Given the description of an element on the screen output the (x, y) to click on. 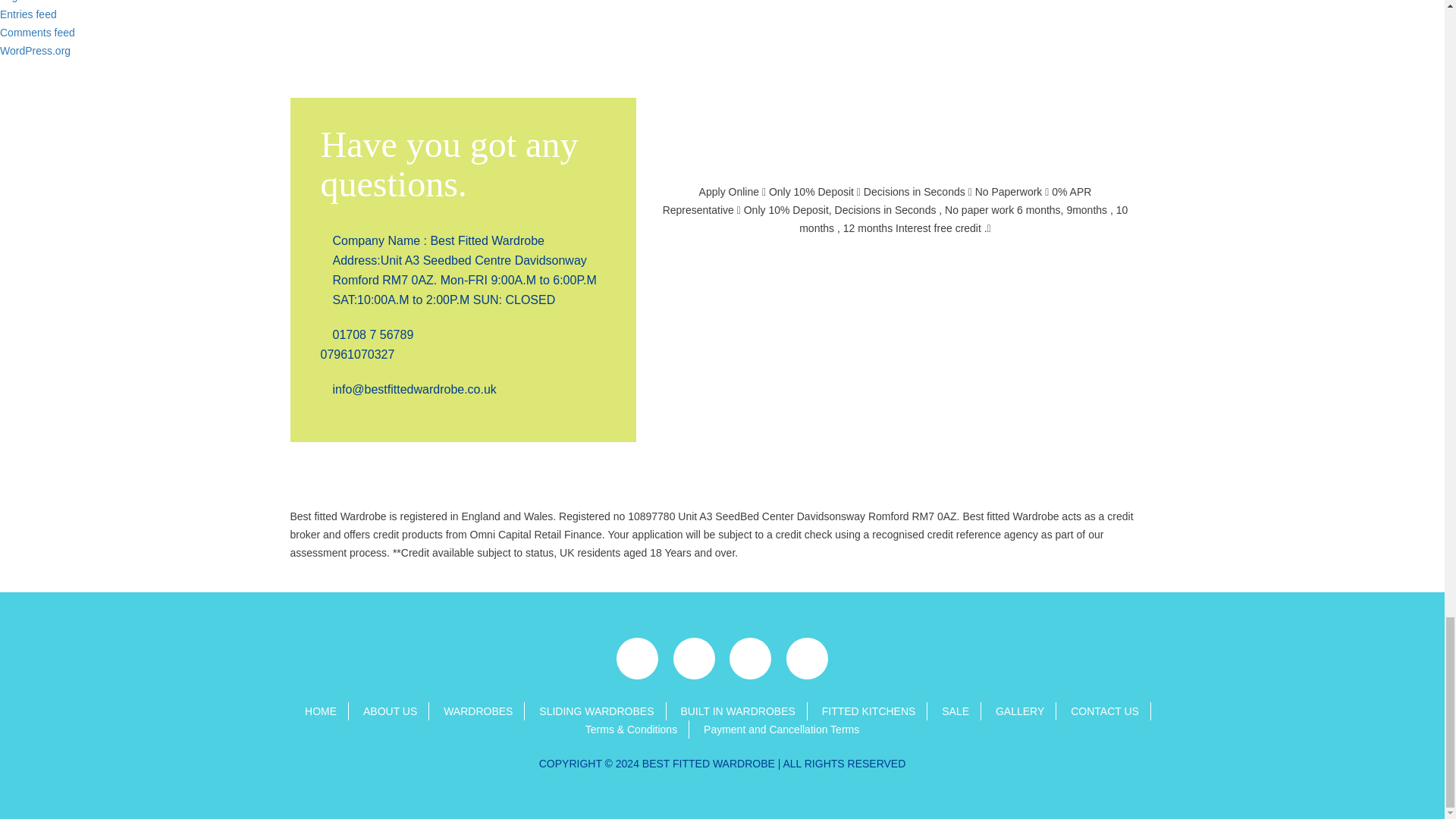
FITTED KITCHENS (868, 711)
BUILT IN WARDROBES (736, 711)
SLIDING WARDROBES (595, 711)
HOME (320, 711)
WARDROBES (478, 711)
SALE (955, 711)
ABOUT US (389, 711)
